Given the description of an element on the screen output the (x, y) to click on. 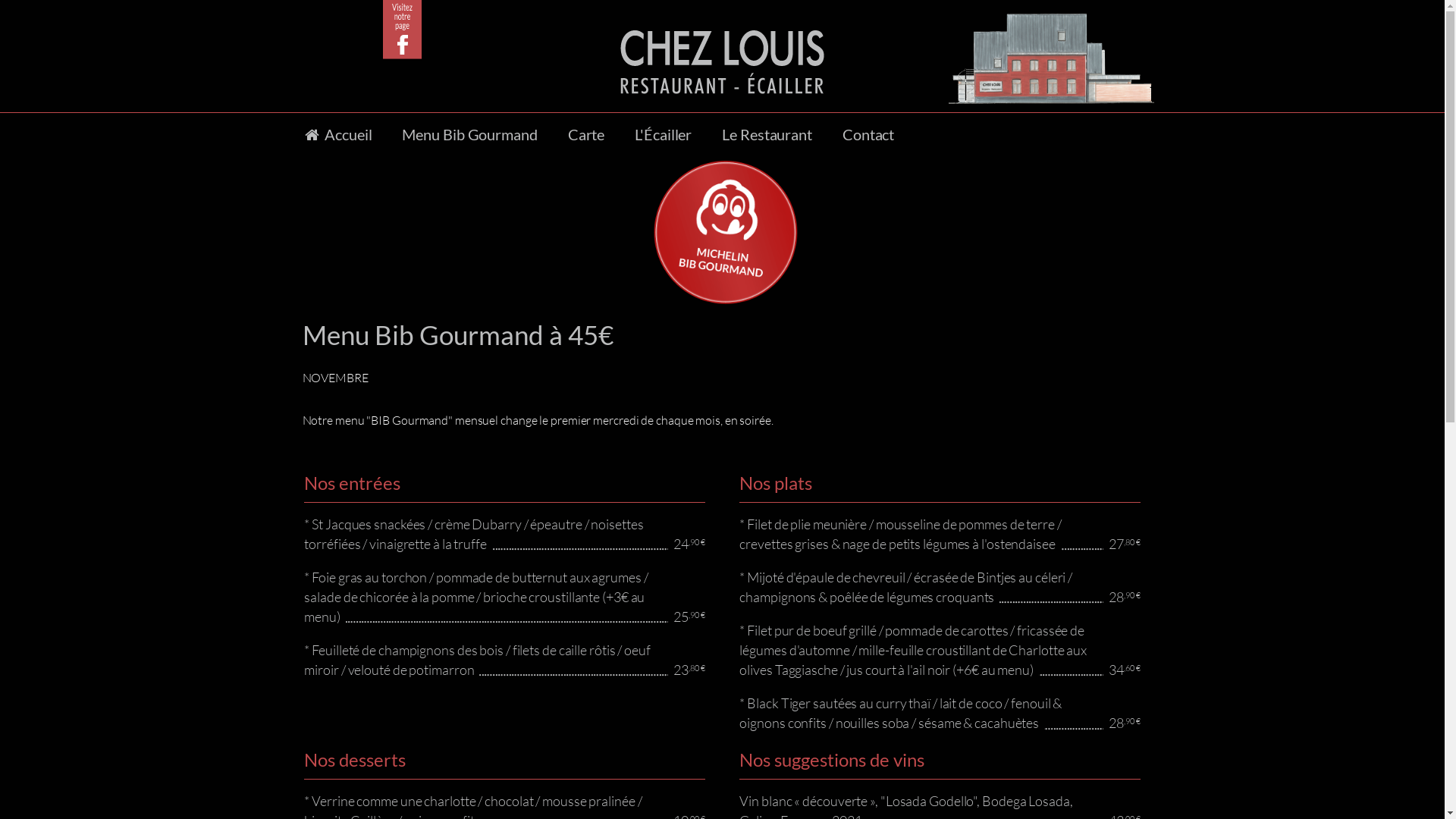
Contact Element type: text (868, 134)
Menu Bib Gourmand Element type: text (469, 134)
Carte Element type: text (586, 134)
Accueil Element type: text (336, 134)
Rejoingnez-nous sur Facebook Element type: hover (401, 30)
Le Restaurant Element type: text (766, 134)
